Given the description of an element on the screen output the (x, y) to click on. 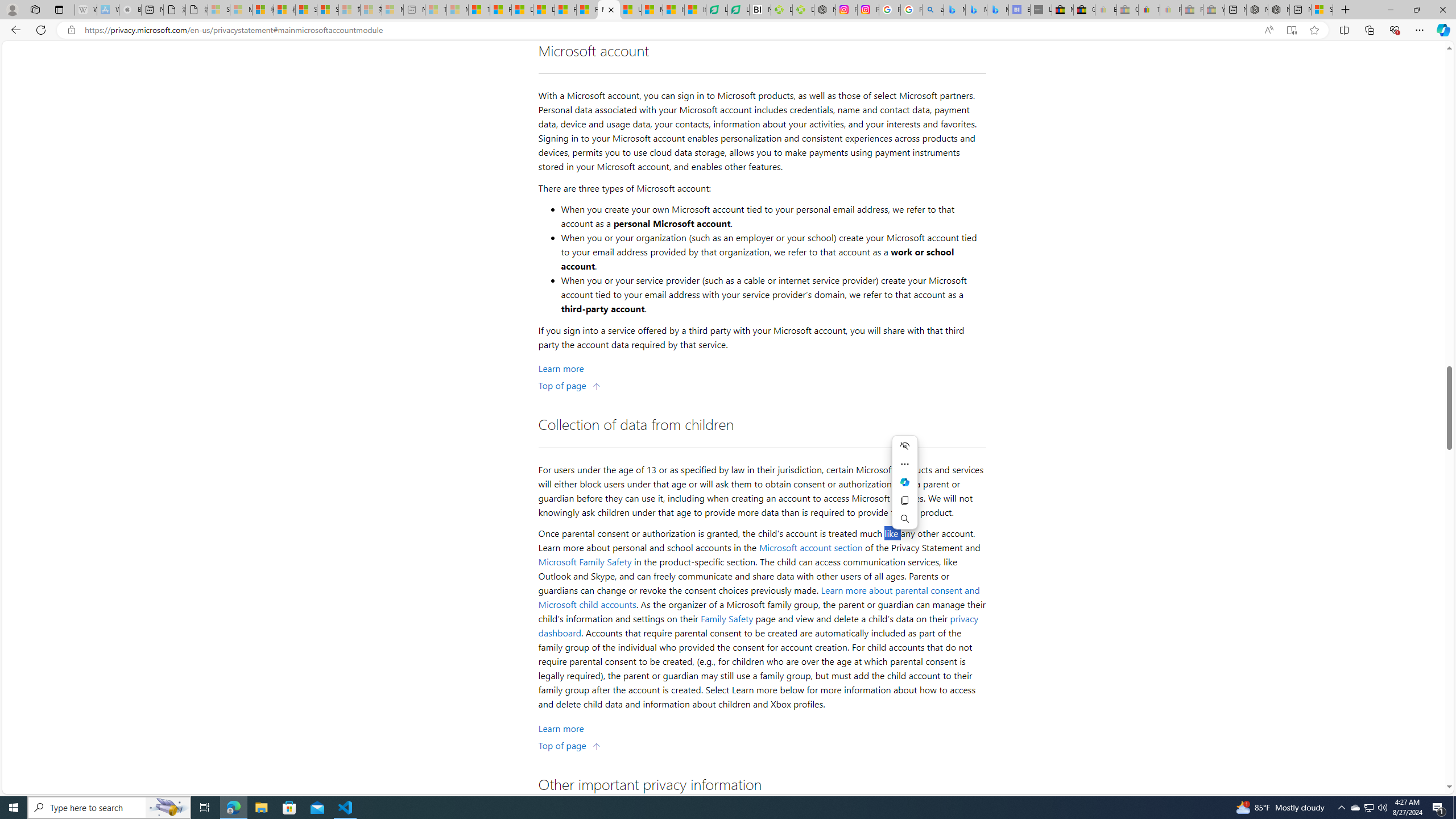
Yard, Garden & Outdoor Living - Sleeping (1214, 9)
Sign in to your Microsoft account - Sleeping (218, 9)
Top Stories - MSN - Sleeping (435, 9)
Nordace - Nordace Edin Collection (824, 9)
Hide menu (904, 445)
Microsoft account section (810, 547)
